Given the description of an element on the screen output the (x, y) to click on. 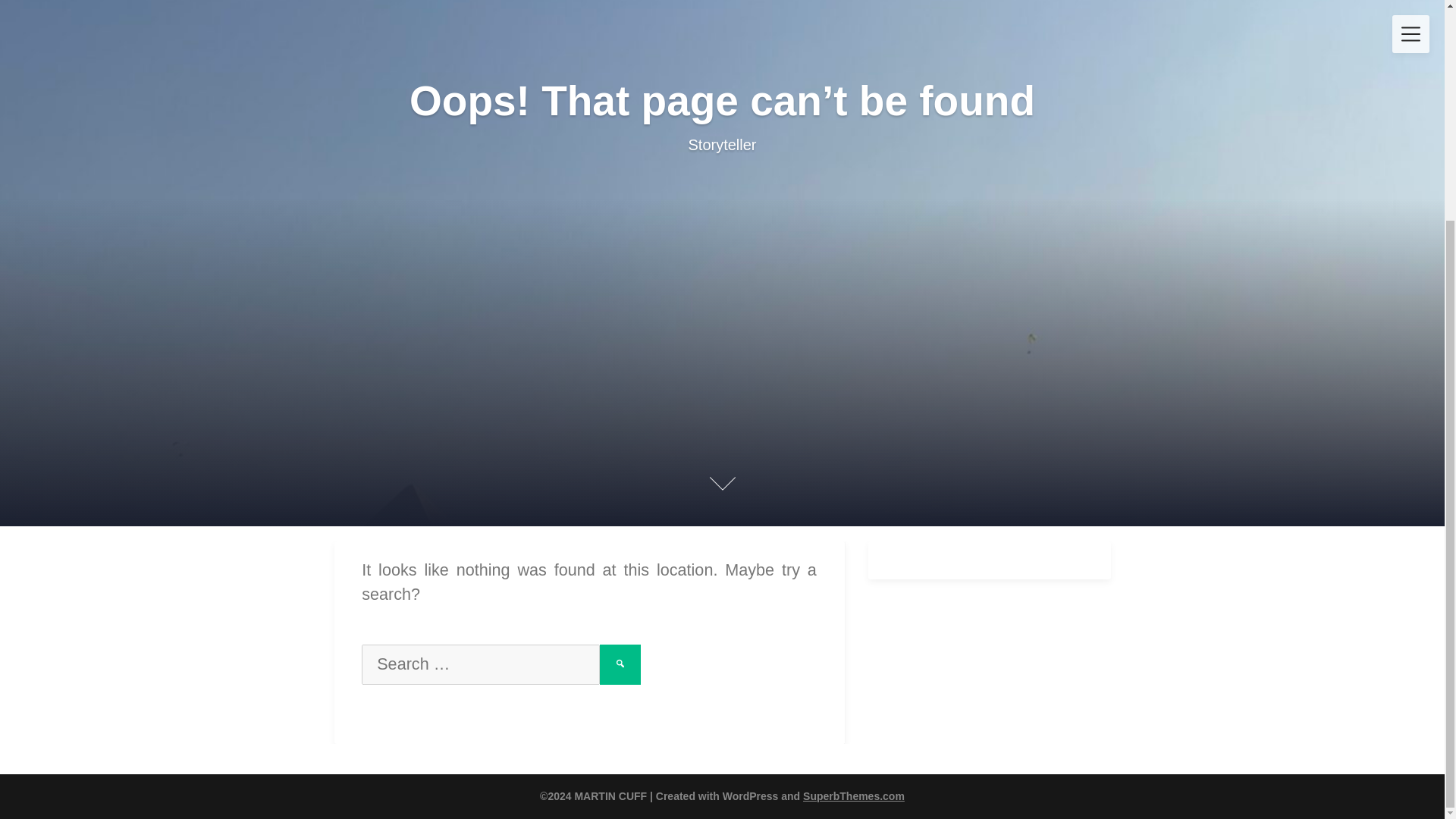
SuperbThemes.com (853, 796)
